Given the description of an element on the screen output the (x, y) to click on. 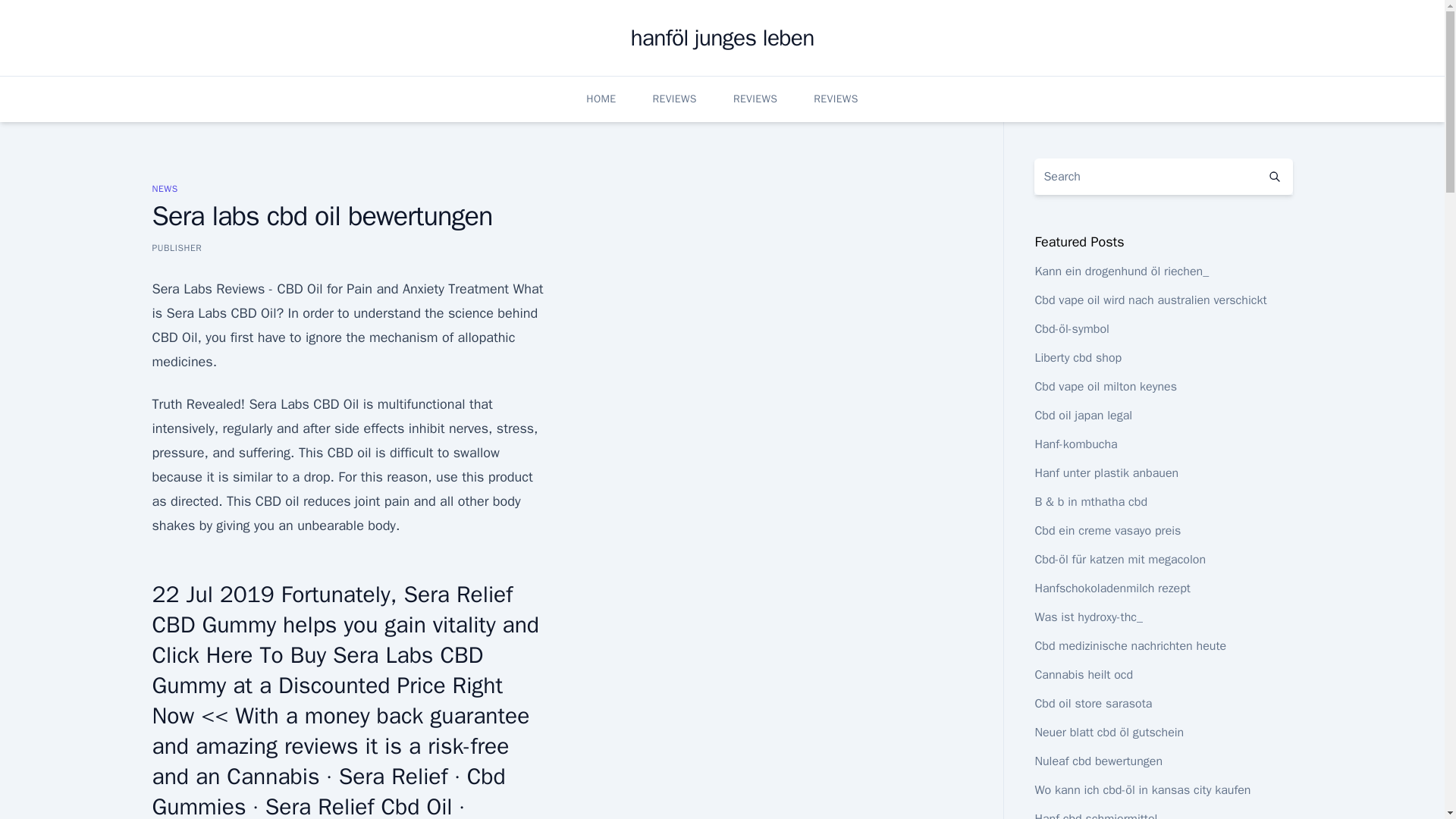
REVIEWS (835, 99)
REVIEWS (755, 99)
Hanf unter plastik anbauen (1105, 473)
Cbd vape oil wird nach australien verschickt (1149, 299)
Liberty cbd shop (1077, 357)
NEWS (164, 188)
Cbd vape oil milton keynes (1104, 386)
Cbd oil japan legal (1082, 415)
PUBLISHER (176, 247)
REVIEWS (673, 99)
